Given the description of an element on the screen output the (x, y) to click on. 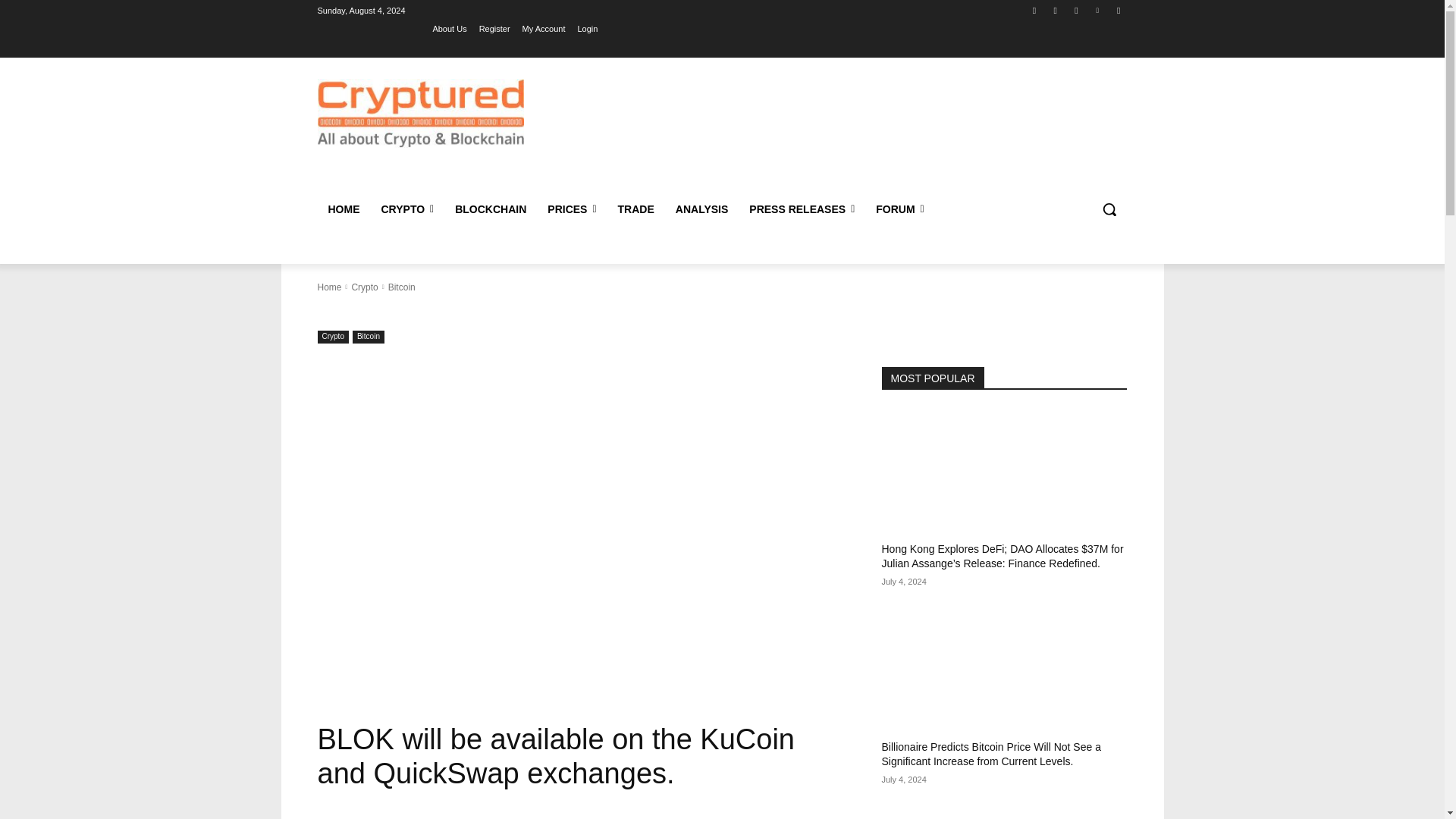
Login (586, 28)
Youtube (1117, 9)
Register (495, 28)
BLOCKCHAIN (490, 208)
My Account (544, 28)
PRICES (572, 208)
Facebook (1034, 9)
Twitter (1075, 9)
HOME (343, 208)
Vimeo (1097, 9)
Instagram (1055, 9)
About Us (448, 28)
CRYPTO (406, 208)
